Given the description of an element on the screen output the (x, y) to click on. 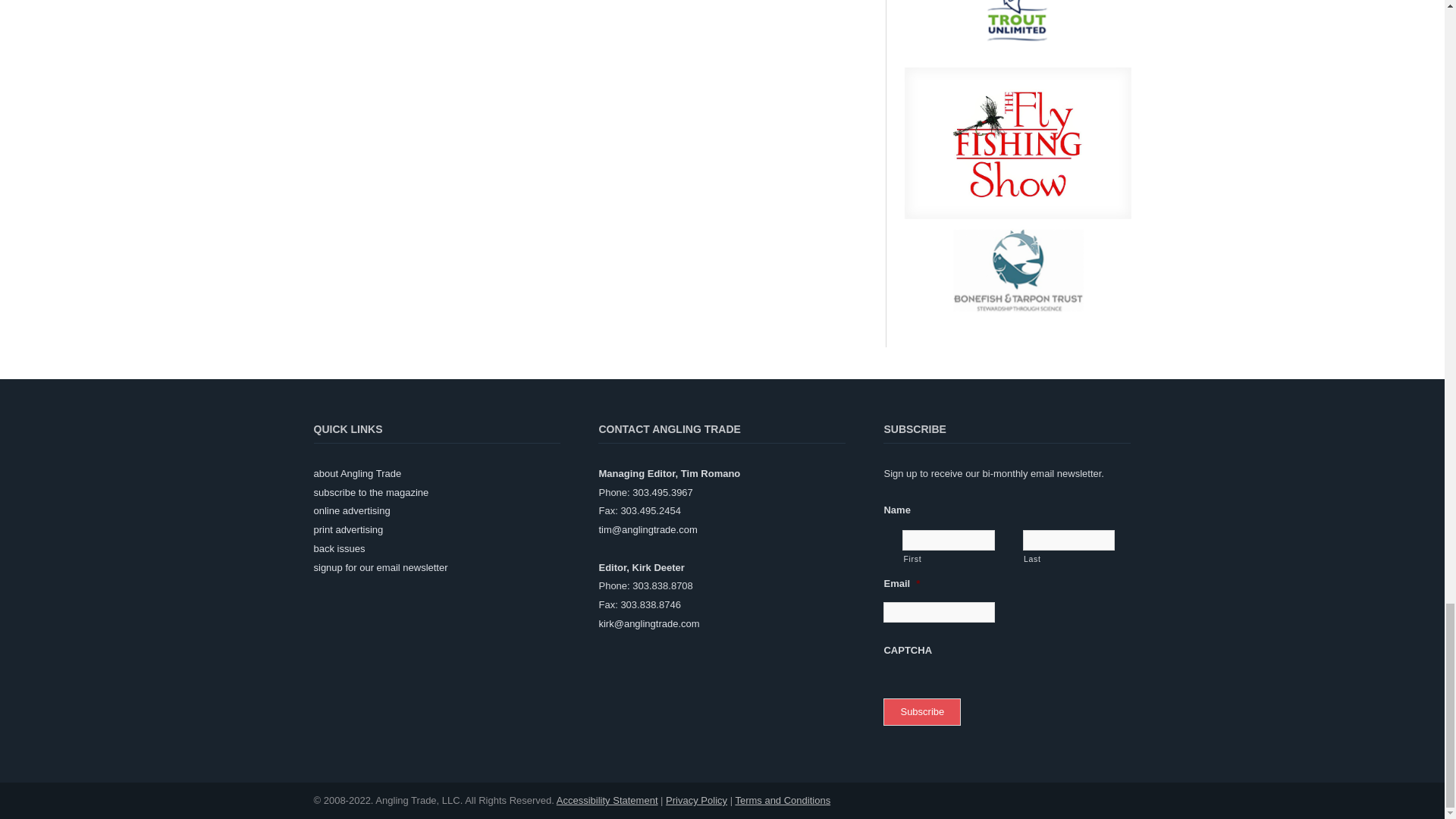
Subscribe (921, 712)
